Given the description of an element on the screen output the (x, y) to click on. 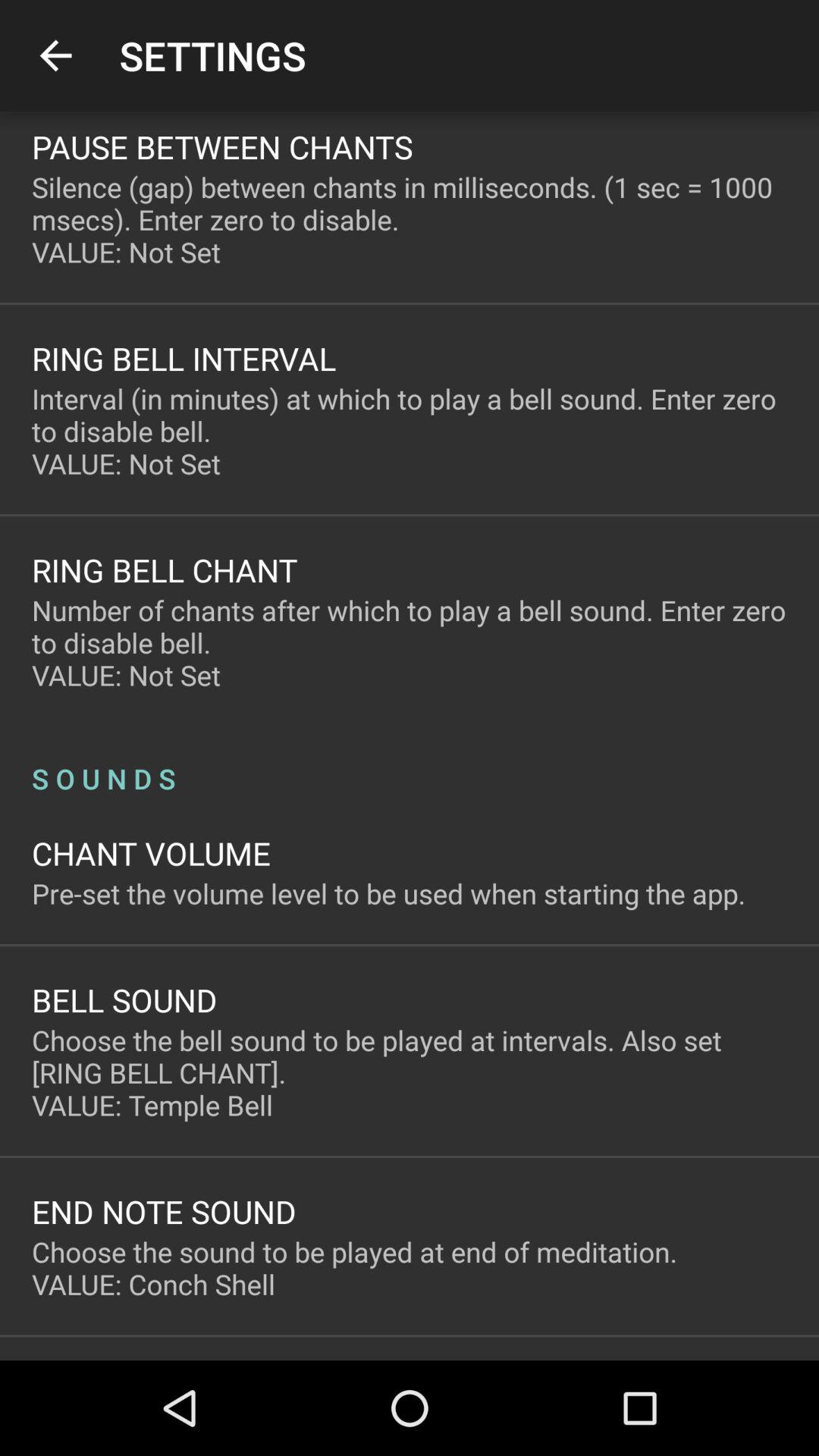
jump until the interval in minutes icon (409, 430)
